Given the description of an element on the screen output the (x, y) to click on. 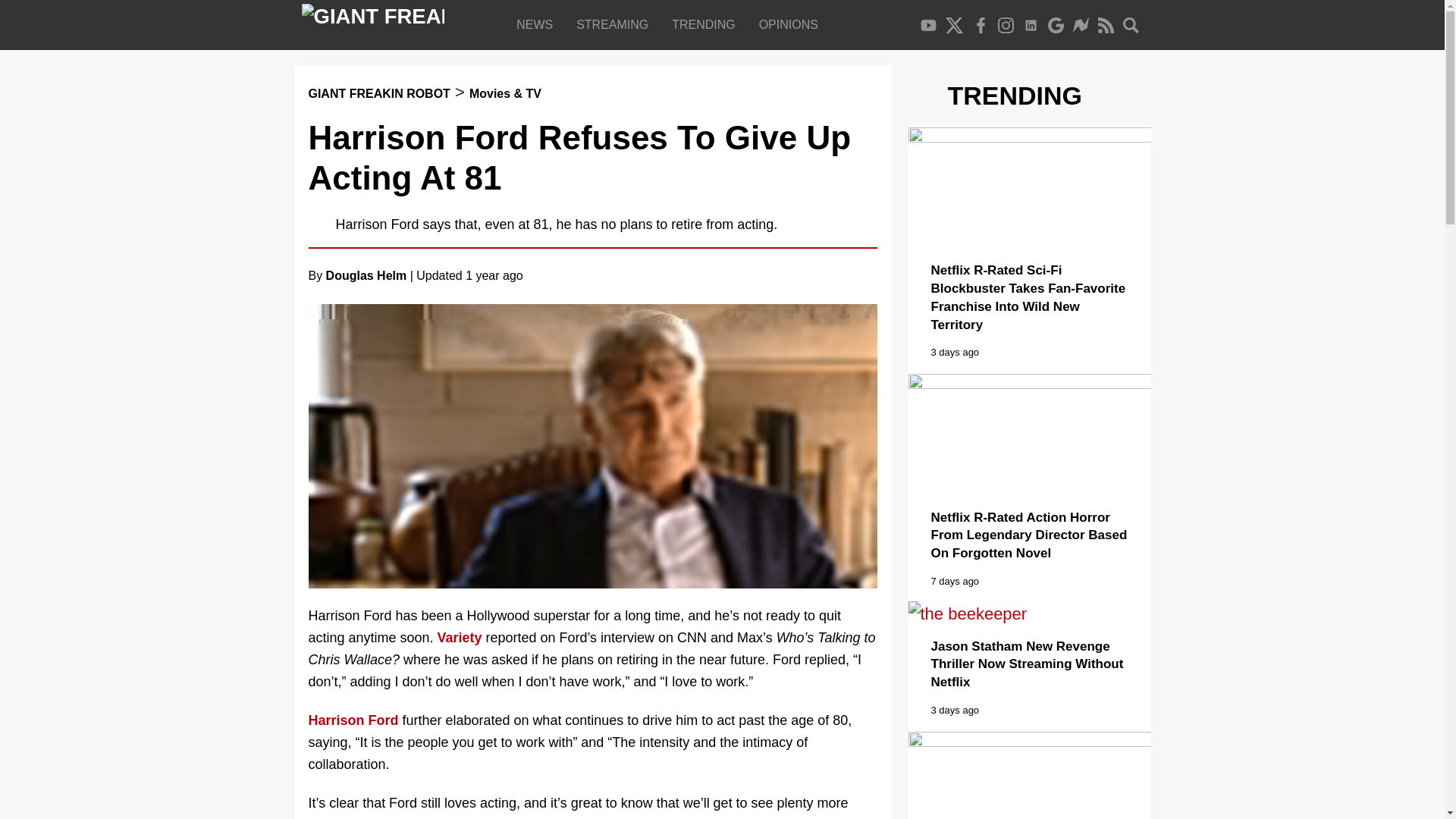
Variety (458, 637)
GIANT FREAKIN ROBOT (378, 92)
Streaming (615, 24)
NEWS (537, 24)
Entertainment News (537, 24)
Harrison Ford Refuses To Give Up Acting At 81 (578, 157)
Douglas Helm (366, 275)
OPINIONS (791, 24)
STREAMING (615, 24)
TRENDING (706, 24)
Trending (706, 24)
